Given the description of an element on the screen output the (x, y) to click on. 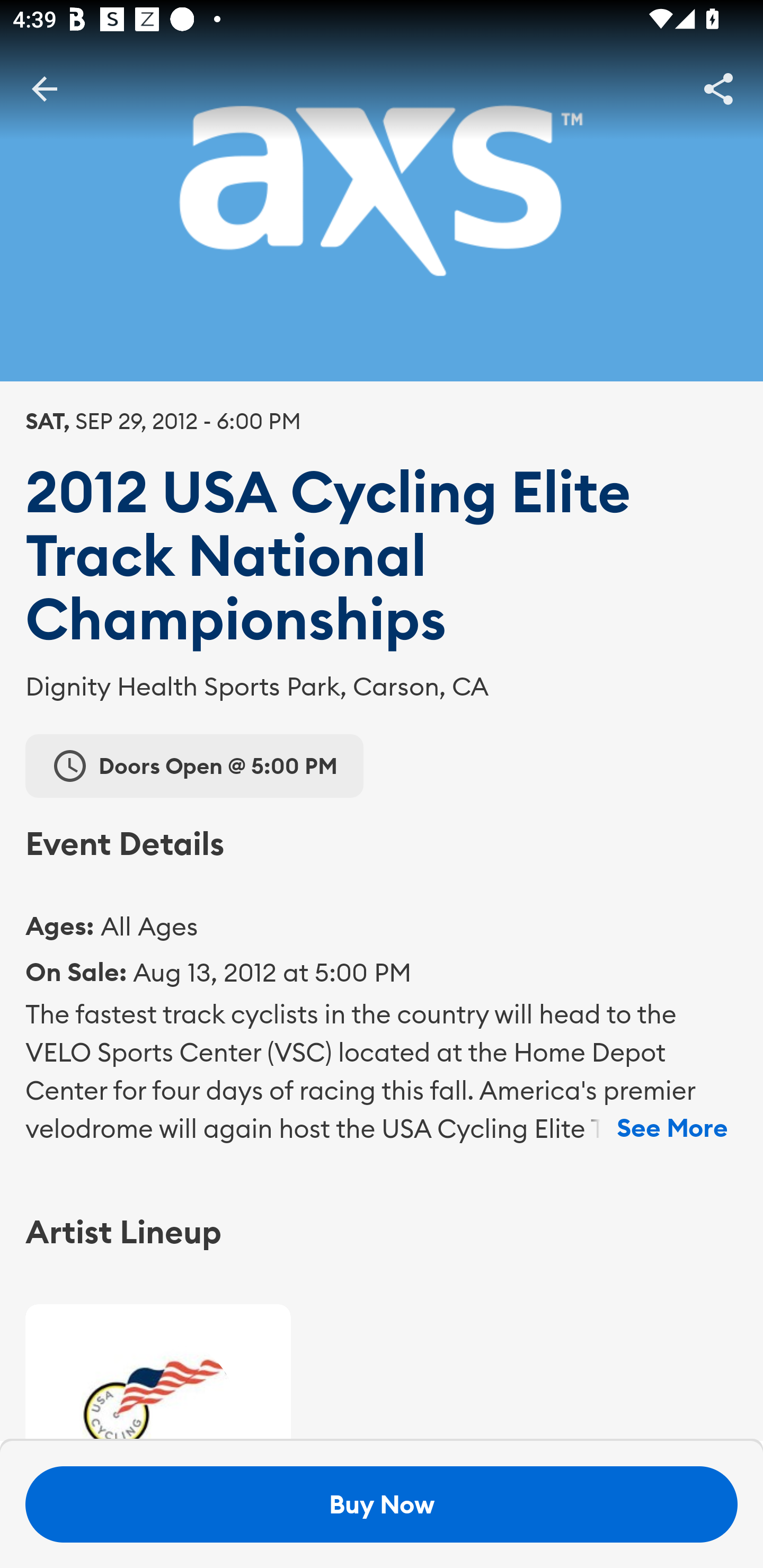
BackButton (44, 88)
Share (718, 88)
See More (671, 1127)
Buy Now (381, 1504)
